Given the description of an element on the screen output the (x, y) to click on. 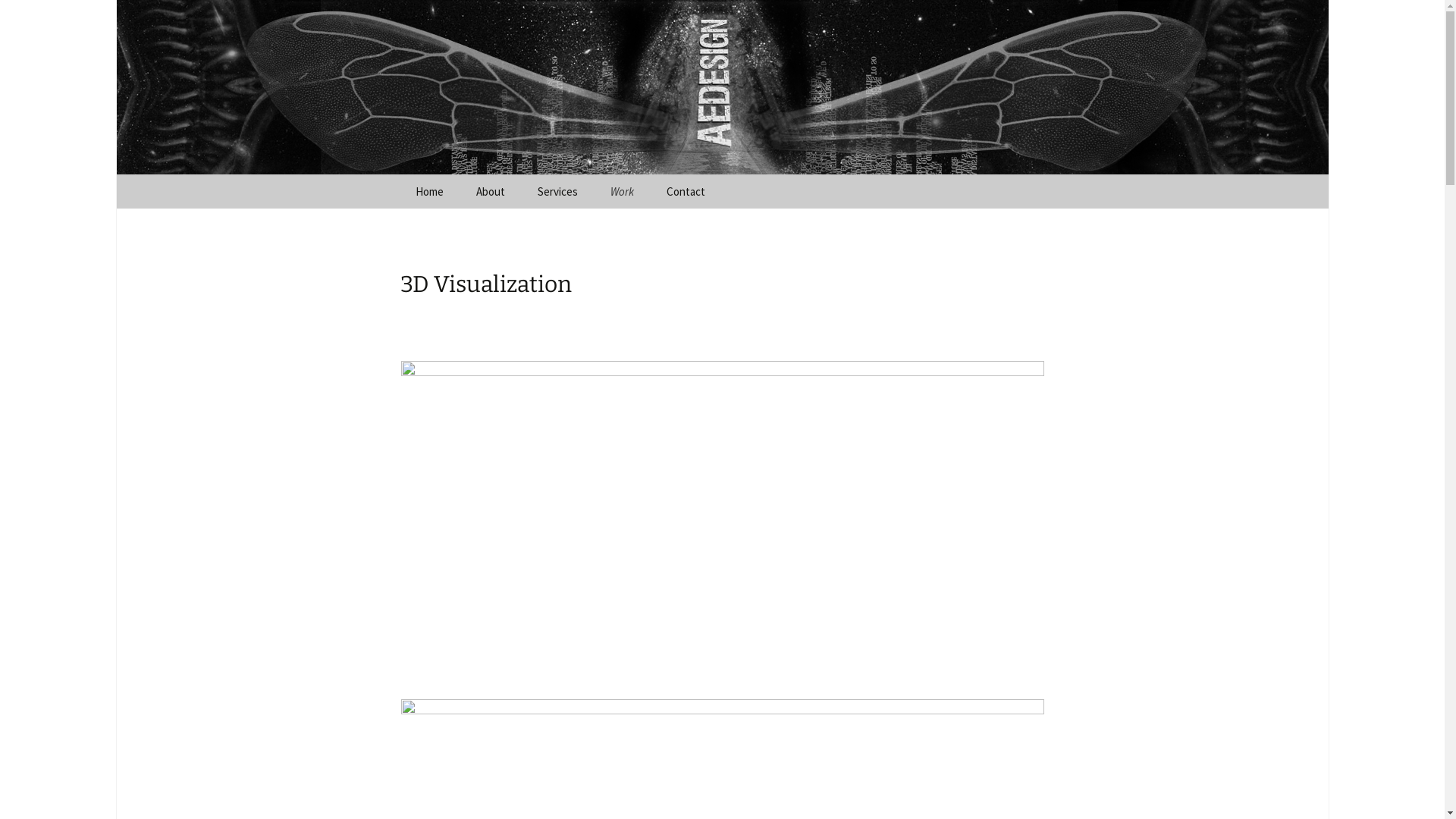
Skip to content Element type: text (398, 173)
Aedesign Element type: text (721, 87)
About Element type: text (490, 191)
Services Element type: text (556, 191)
Contact Element type: text (684, 191)
Home Element type: text (429, 191)
Work Element type: text (621, 191)
